Given the description of an element on the screen output the (x, y) to click on. 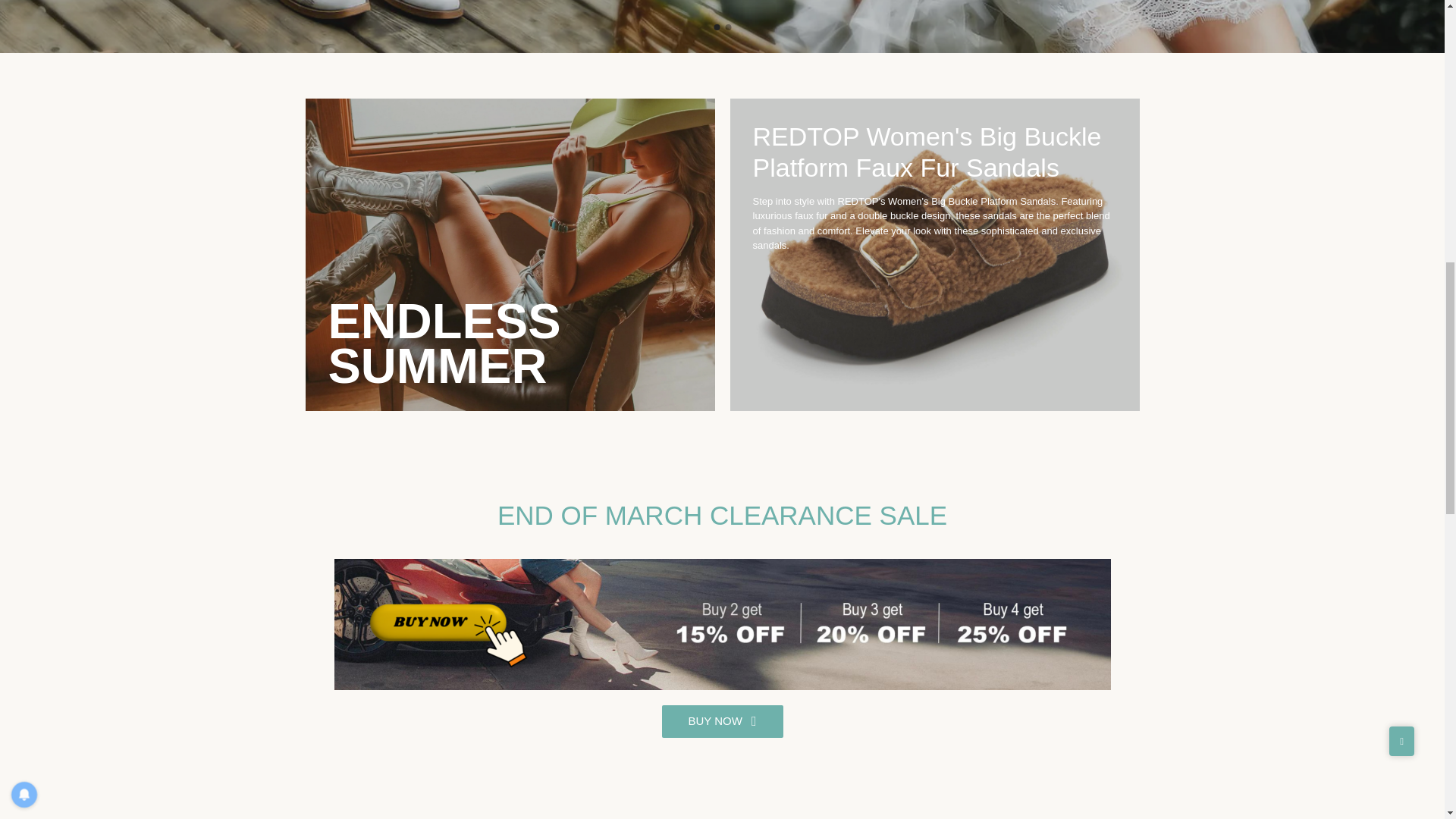
BUY NOW (722, 721)
